Given the description of an element on the screen output the (x, y) to click on. 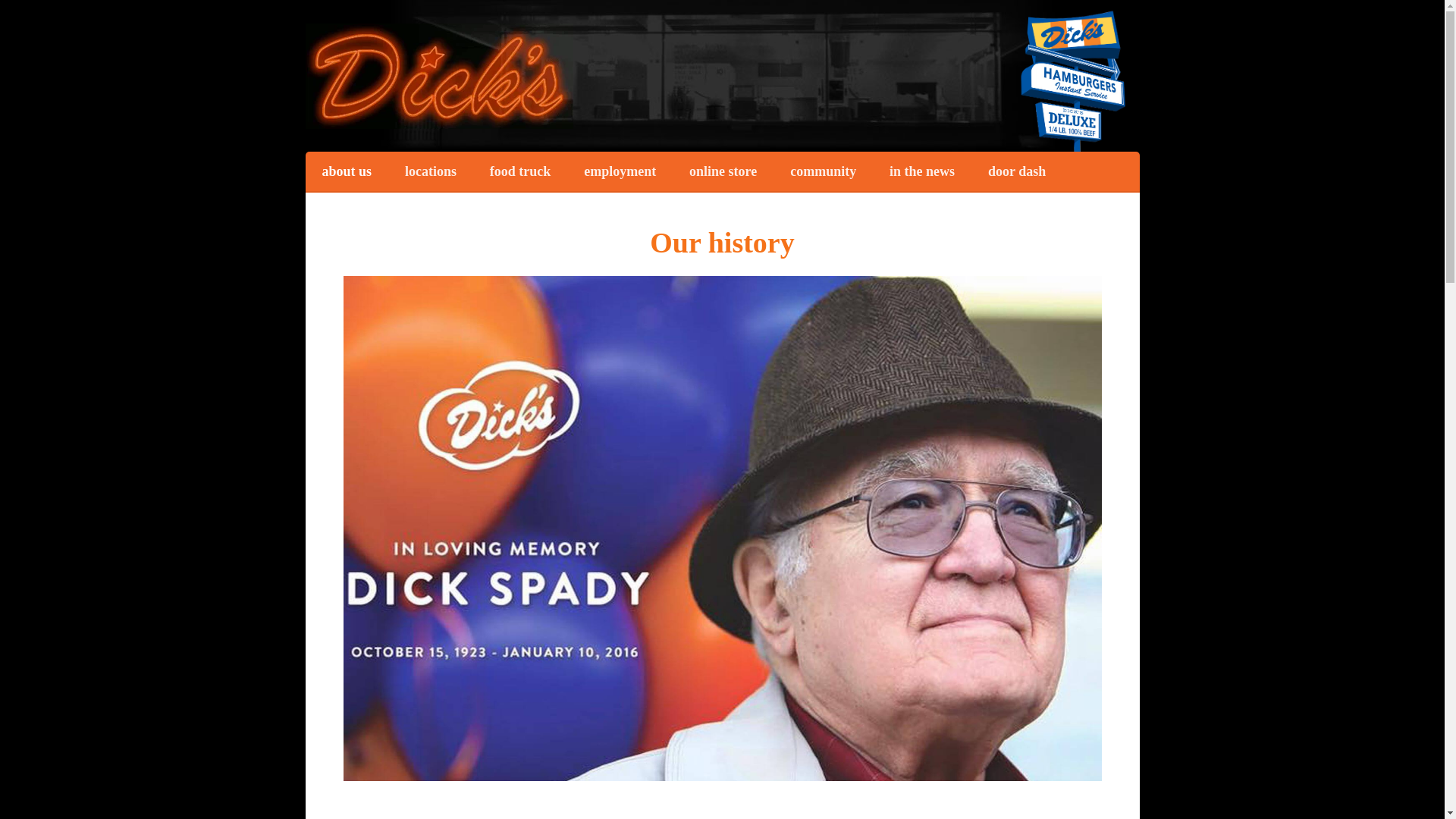
Dick's Drive In (438, 74)
Skip to content (757, 156)
about us (346, 170)
in the news (921, 170)
community (822, 170)
online store (722, 170)
